Given the description of an element on the screen output the (x, y) to click on. 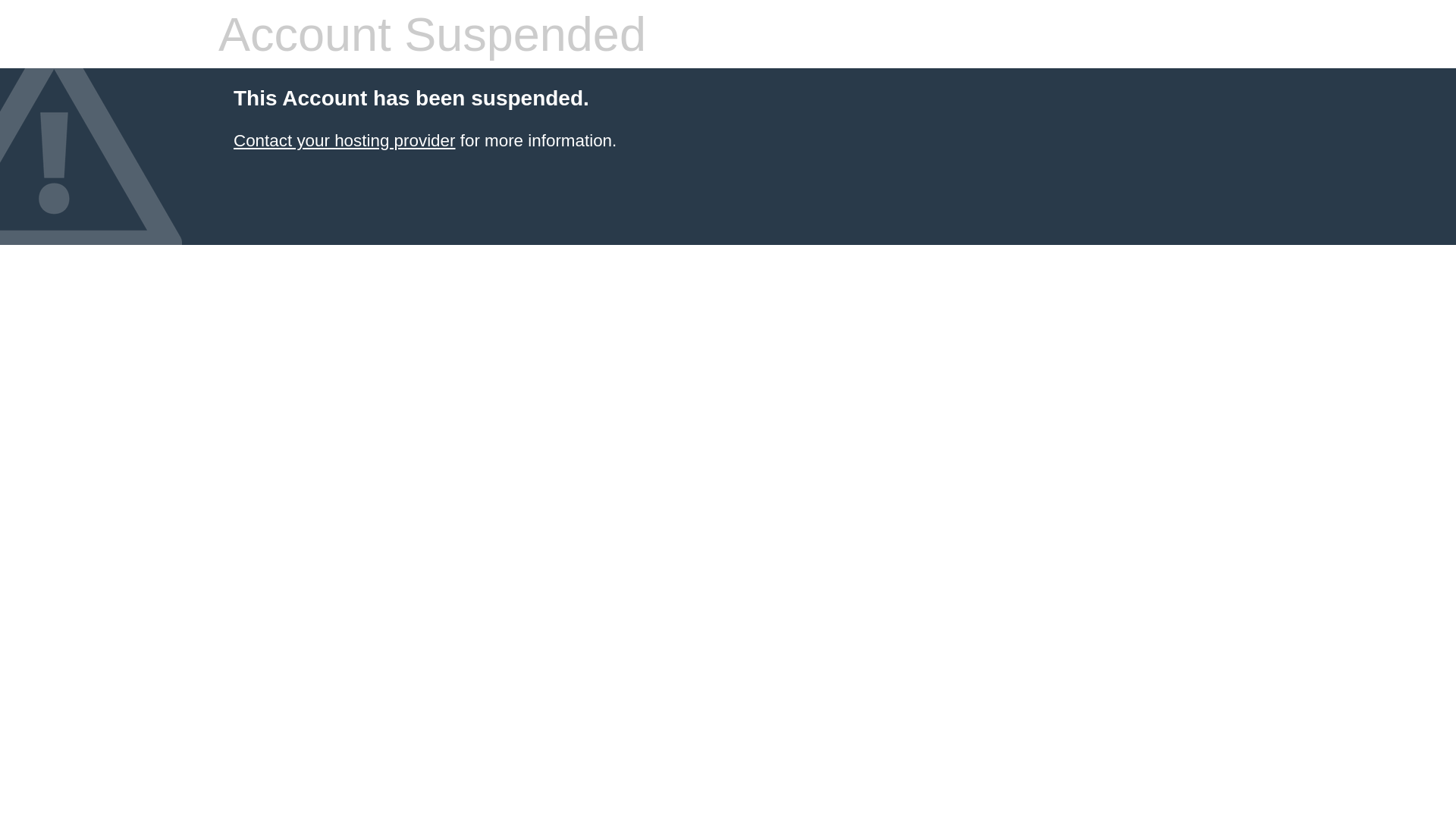
Contact your hosting provider Element type: text (344, 140)
